Given the description of an element on the screen output the (x, y) to click on. 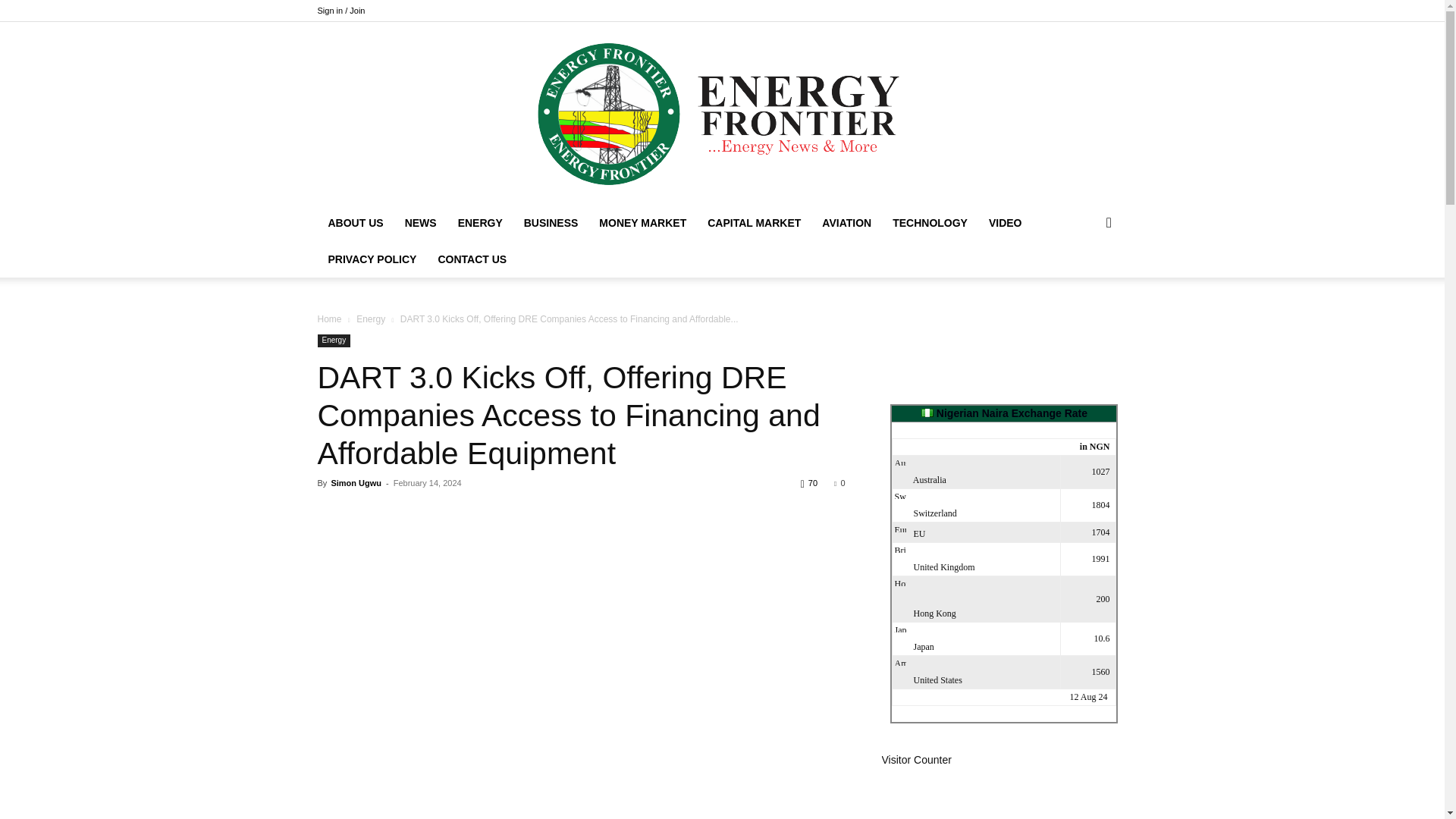
MONEY MARKET (642, 222)
VIDEO (1005, 222)
CAPITAL MARKET (753, 222)
TECHNOLOGY (930, 222)
ABOUT US (355, 222)
Energy (370, 318)
CONTACT US (471, 258)
PRIVACY POLICY (371, 258)
BUSINESS (551, 222)
Energy (333, 340)
